Given the description of an element on the screen output the (x, y) to click on. 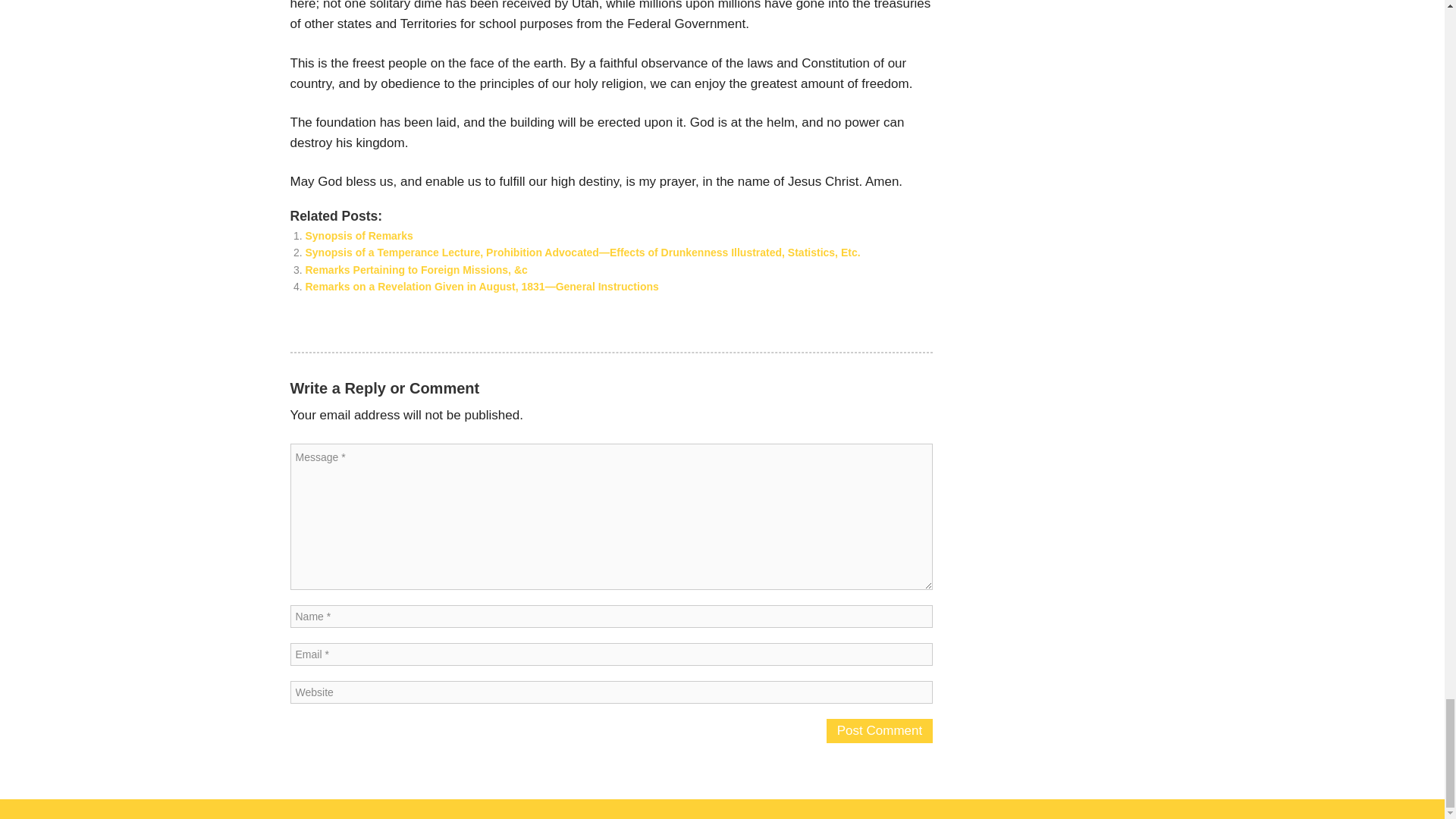
Website (611, 691)
Synopsis of Remarks (358, 235)
Post Comment (880, 730)
